Given the description of an element on the screen output the (x, y) to click on. 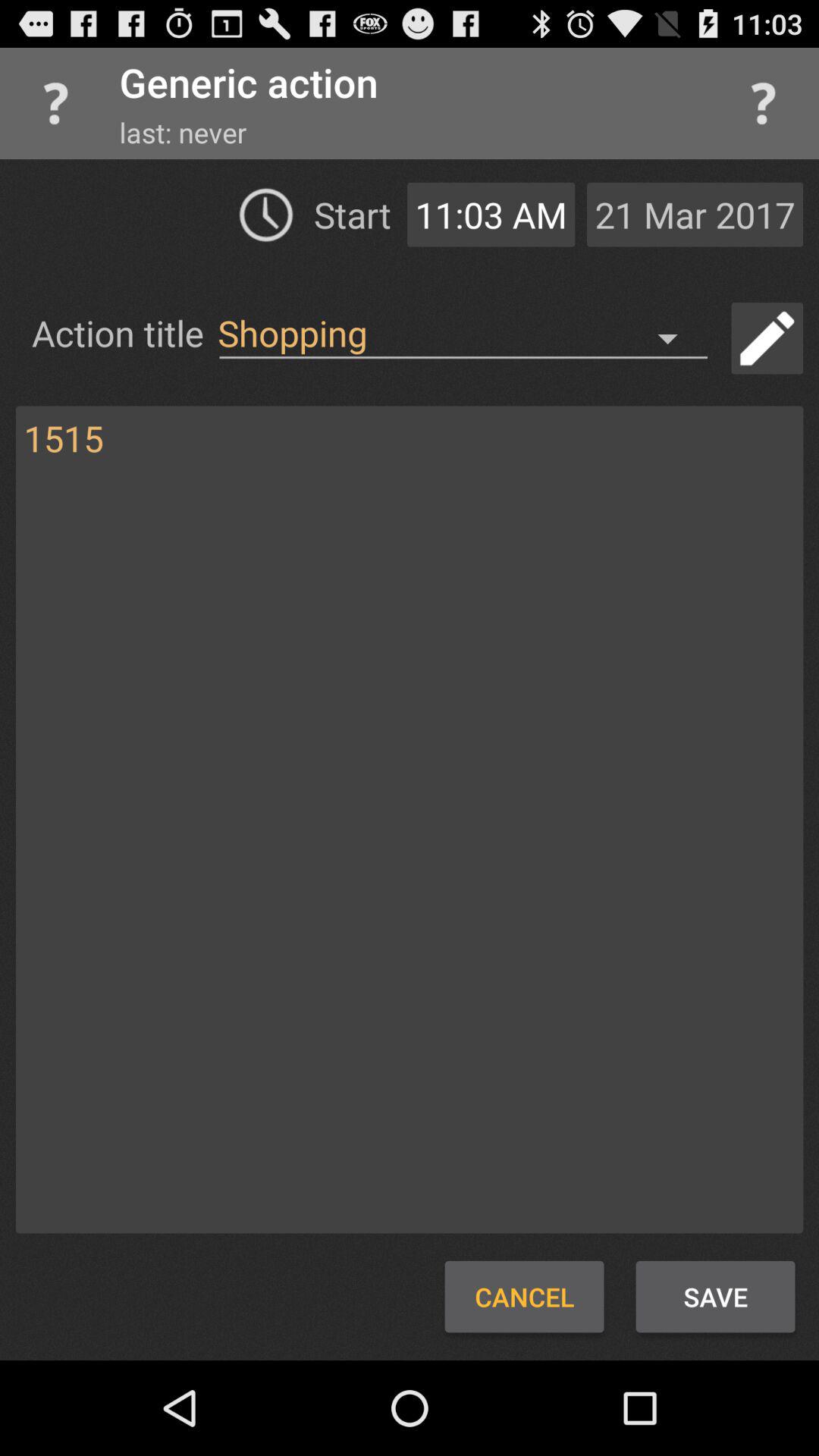
toggle ability to type (767, 338)
